Given the description of an element on the screen output the (x, y) to click on. 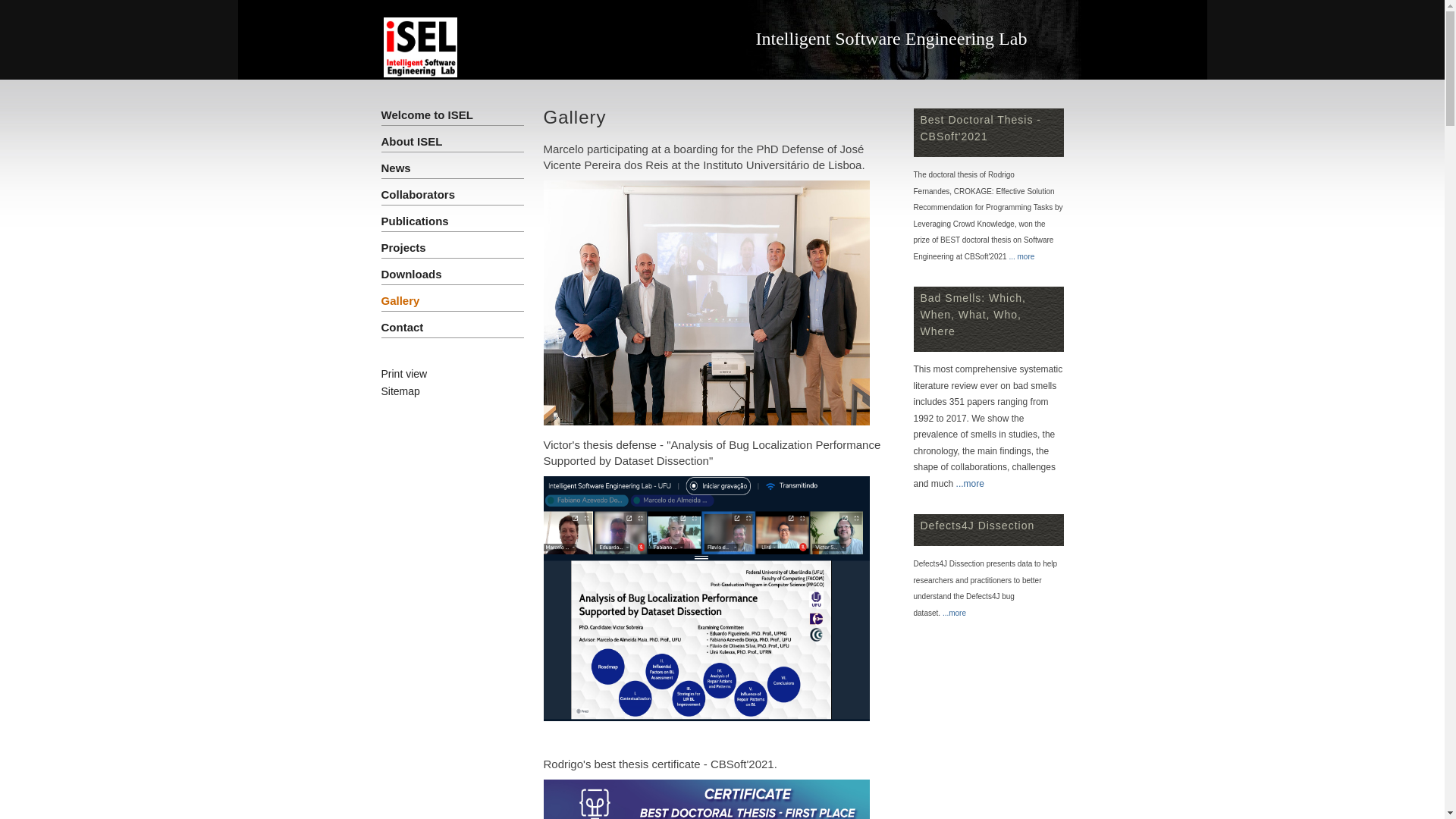
Projects Element type: text (402, 247)
Downloads Element type: text (410, 273)
Print view Element type: text (403, 373)
Publications Element type: text (414, 220)
Welcome to ISEL Element type: text (426, 114)
...more Element type: text (970, 483)
... more Element type: text (1021, 256)
News Element type: text (395, 167)
...more Element type: text (954, 612)
Sitemap Element type: text (399, 391)
Contact Element type: text (401, 326)
Collaborators Element type: text (417, 194)
About ISEL Element type: text (411, 140)
